Given the description of an element on the screen output the (x, y) to click on. 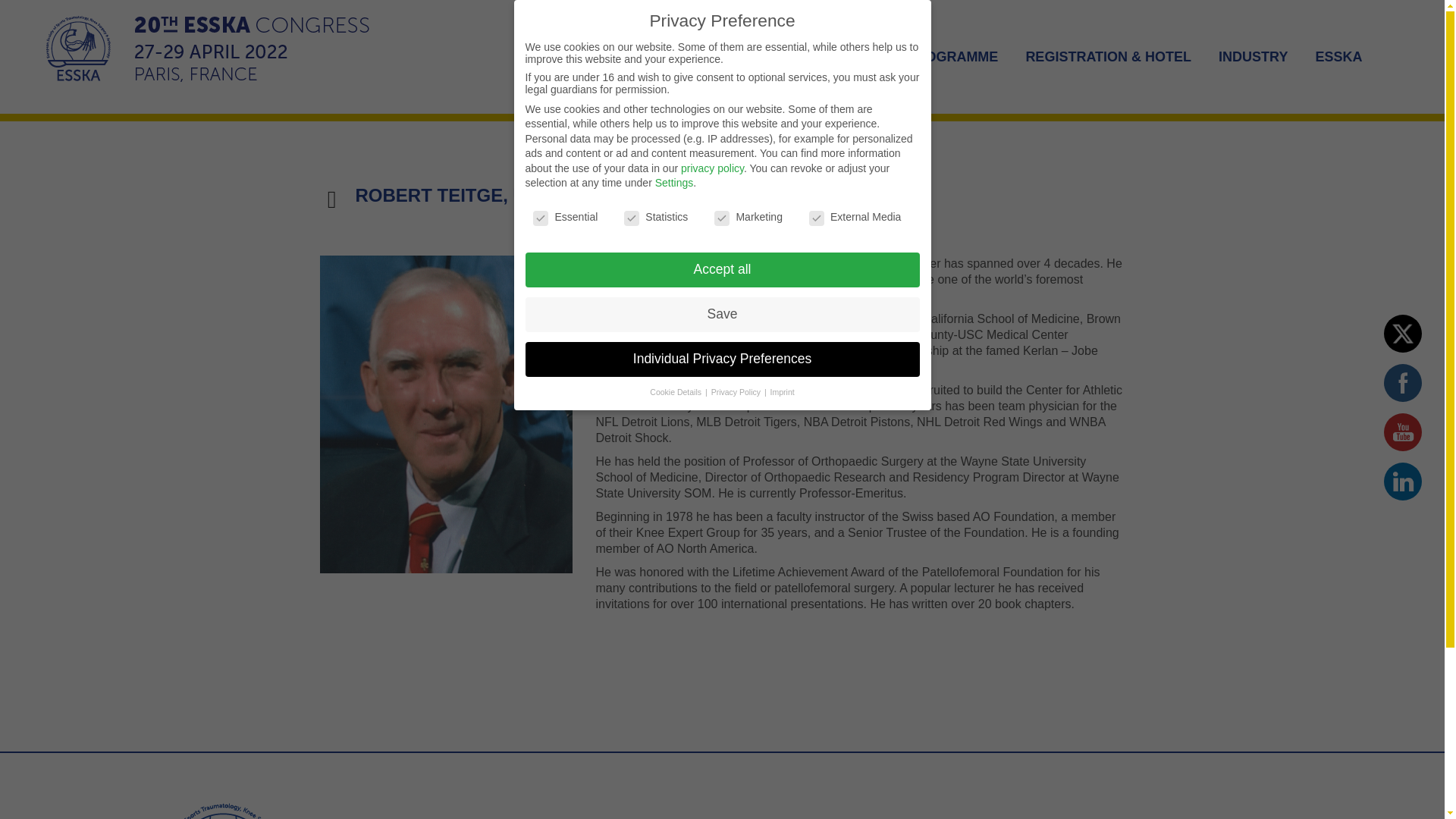
CONGRESS (839, 56)
Twitter (1402, 333)
LinkedIn (1402, 481)
PROGRAMME (951, 56)
Facebook (1402, 382)
YouTube (1402, 432)
